Given the description of an element on the screen output the (x, y) to click on. 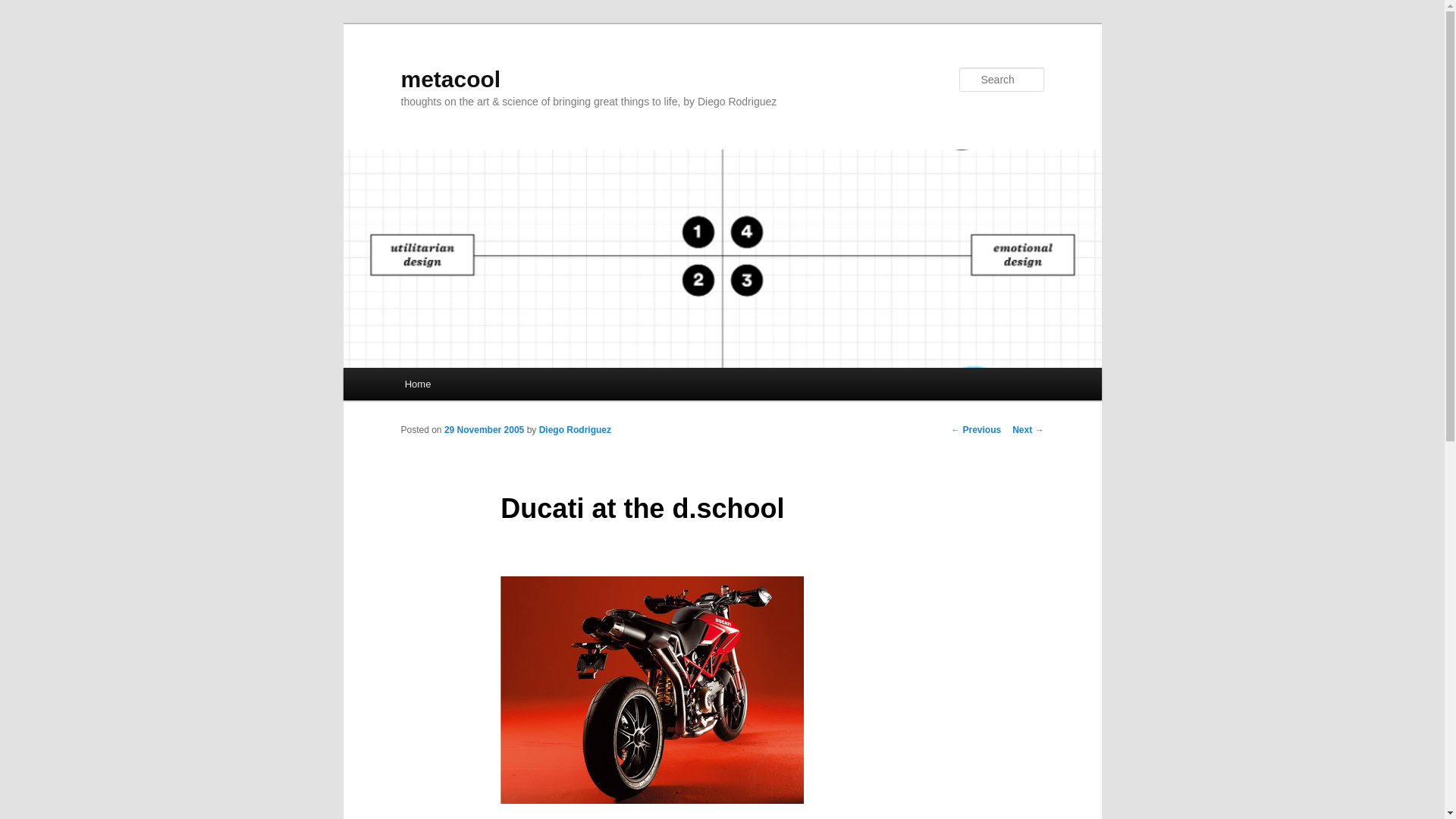
29 November 2005 (484, 429)
Home (417, 383)
View all posts by Diego Rodriguez (574, 429)
Search (24, 8)
metacool (450, 78)
7:23 pm (484, 429)
Diego Rodriguez (574, 429)
